Given the description of an element on the screen output the (x, y) to click on. 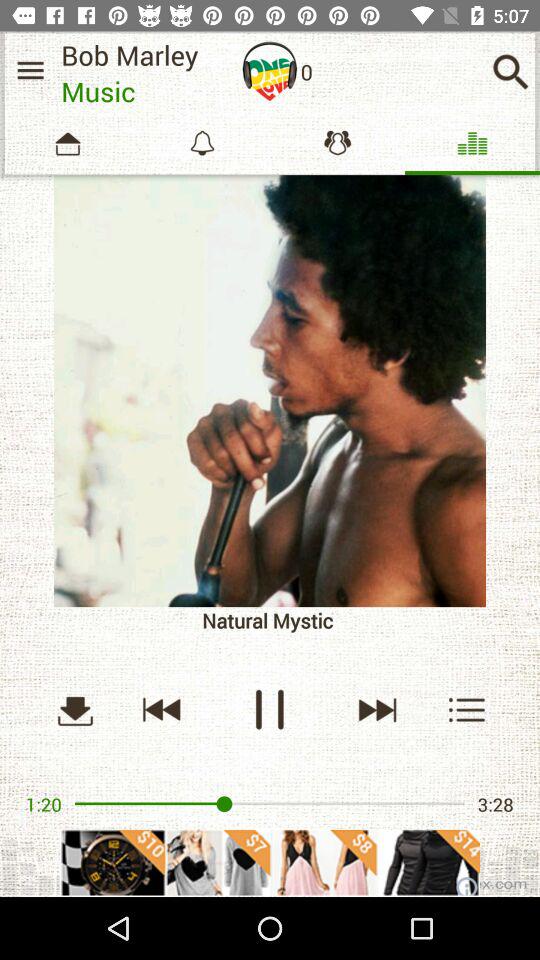
go to musci play (376, 709)
